Given the description of an element on the screen output the (x, y) to click on. 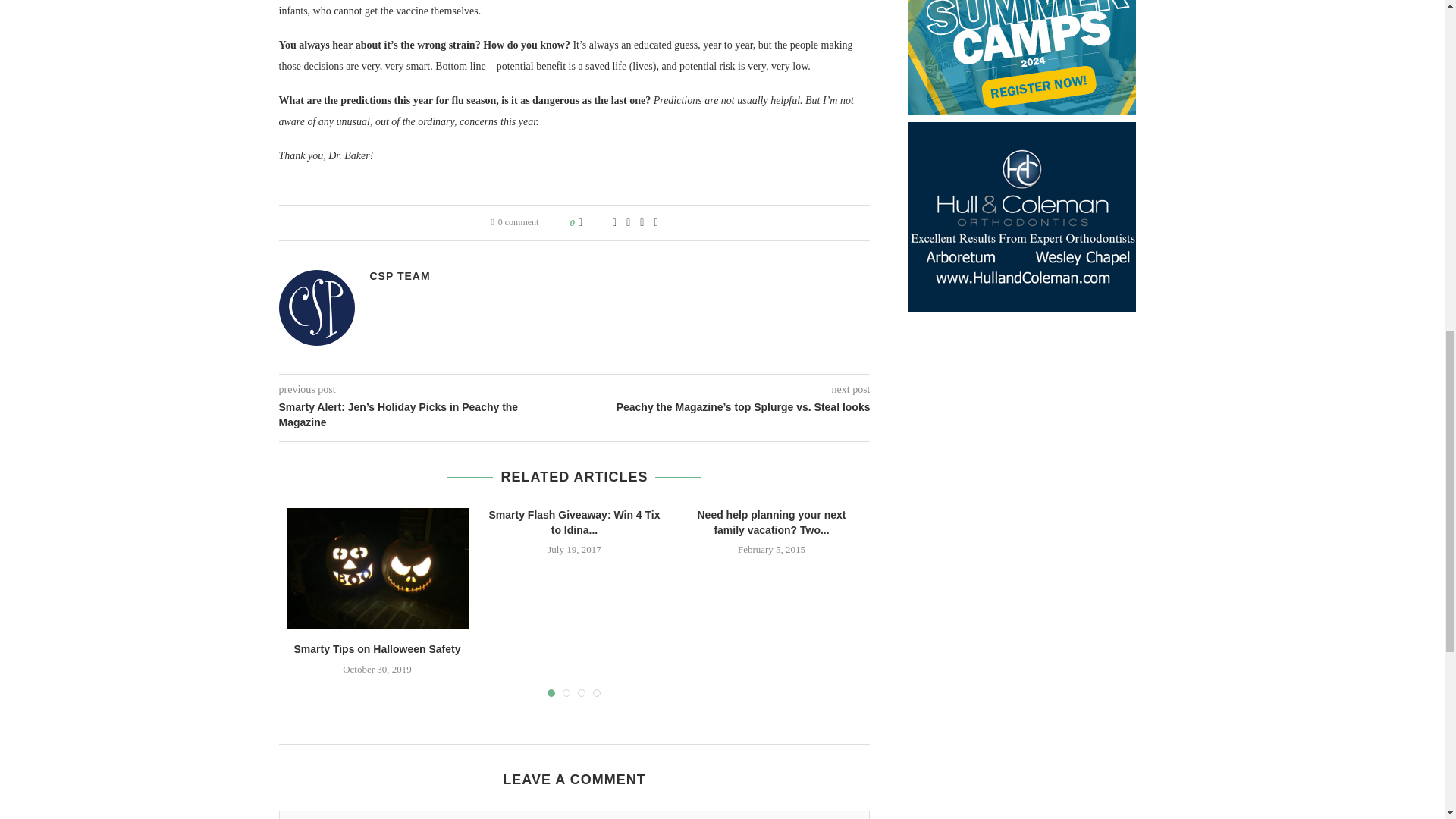
Posts by CSP Team (399, 275)
Like (590, 223)
Smarty Tips on Halloween Safety (377, 568)
